Given the description of an element on the screen output the (x, y) to click on. 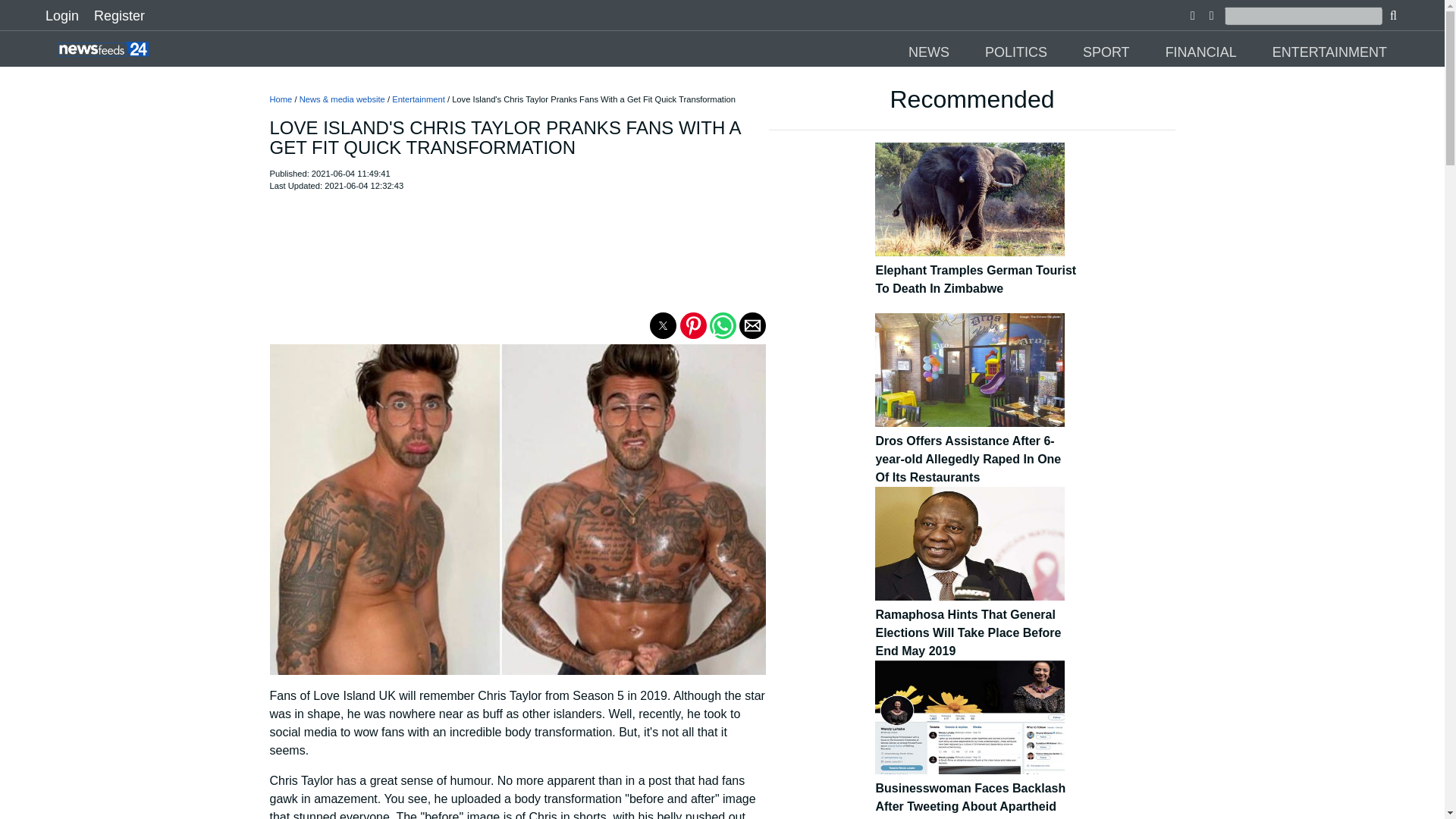
Entertainment (418, 99)
Login (61, 15)
Register (118, 15)
FINANCIAL (1202, 51)
NEWS (930, 51)
SPORT (1107, 51)
Businesswoman Faces Backlash After Tweeting About Apartheid (975, 789)
Elephant Tramples German Tourist To Death In Zimbabwe (975, 271)
POLITICS (1017, 51)
